Given the description of an element on the screen output the (x, y) to click on. 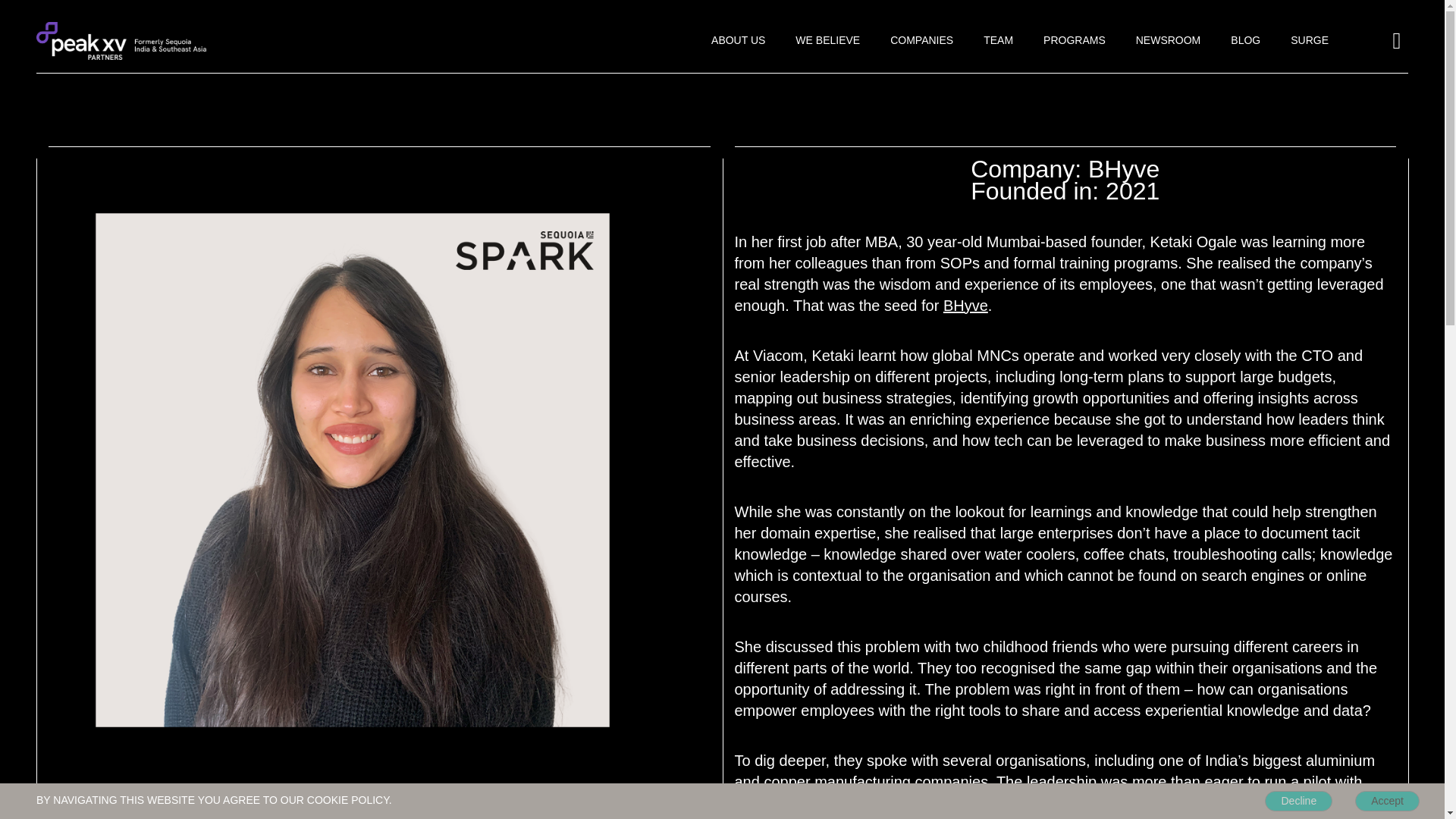
Open search (1396, 40)
ABOUT US (738, 40)
PROGRAMS (1074, 40)
Accept (1387, 801)
BLOG (1245, 40)
TEAM (998, 40)
BHyve (965, 305)
WE BELIEVE (827, 40)
NEWSROOM (1168, 40)
COMPANIES (921, 40)
Decline (1298, 801)
SURGE (1308, 40)
